Given the description of an element on the screen output the (x, y) to click on. 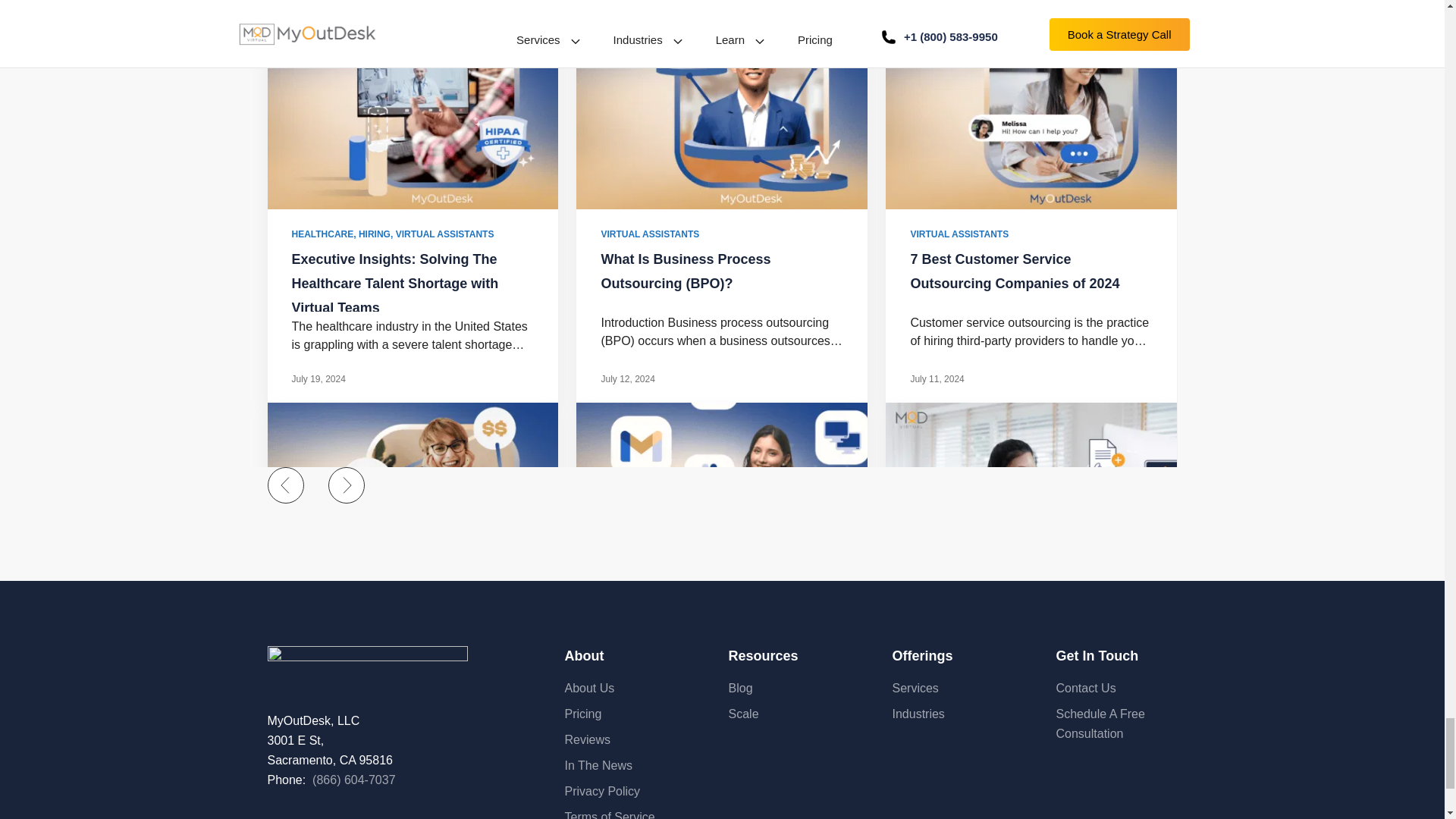
MOD-Logo-Small-No-Padding (366, 661)
